Given the description of an element on the screen output the (x, y) to click on. 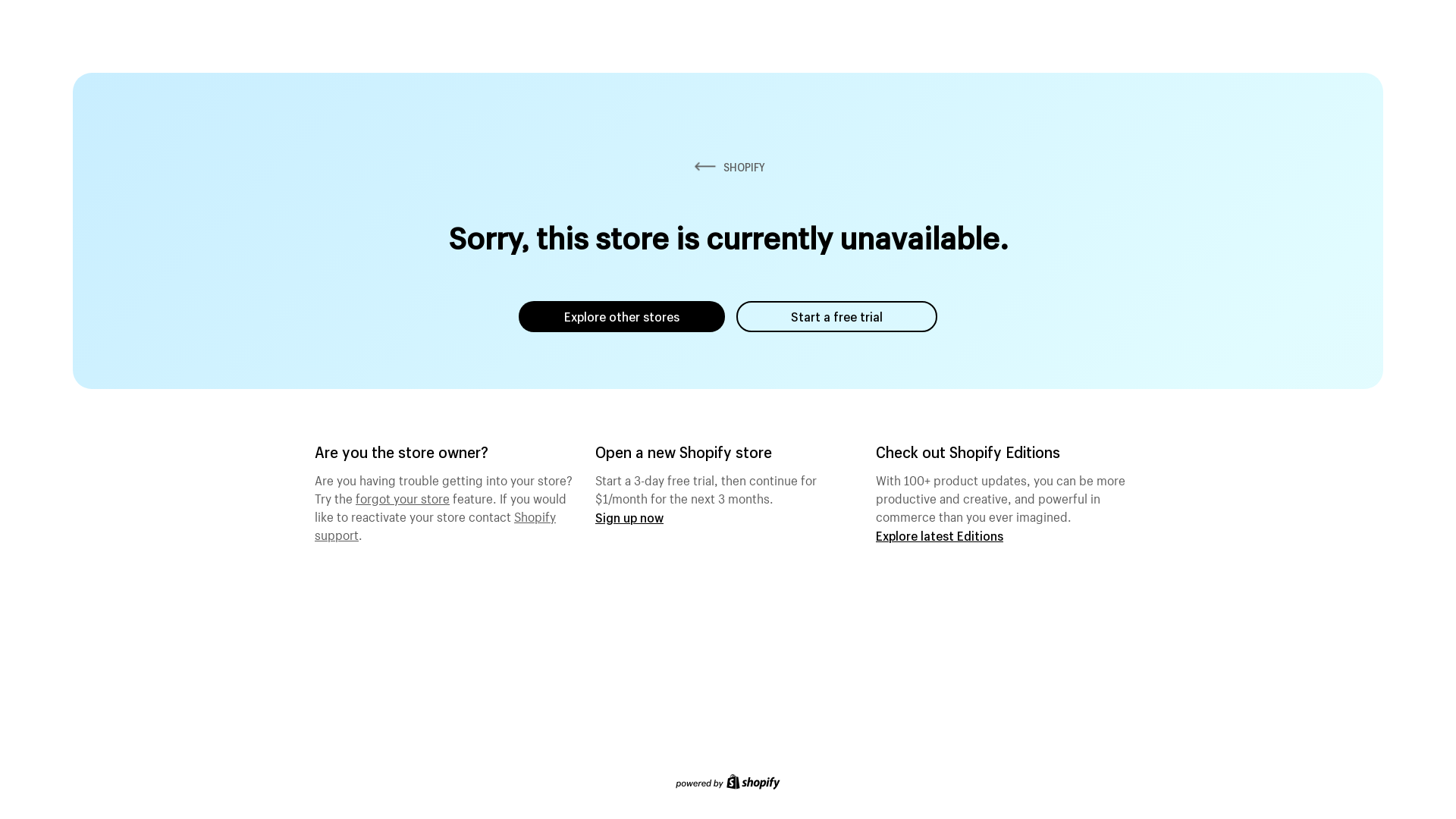
Shopify support Element type: text (434, 523)
Sign up now Element type: text (629, 517)
Explore latest Editions Element type: text (939, 535)
Explore other stores Element type: text (621, 316)
Start a free trial Element type: text (836, 316)
forgot your store Element type: text (402, 496)
SHOPIFY Element type: text (727, 167)
